Given the description of an element on the screen output the (x, y) to click on. 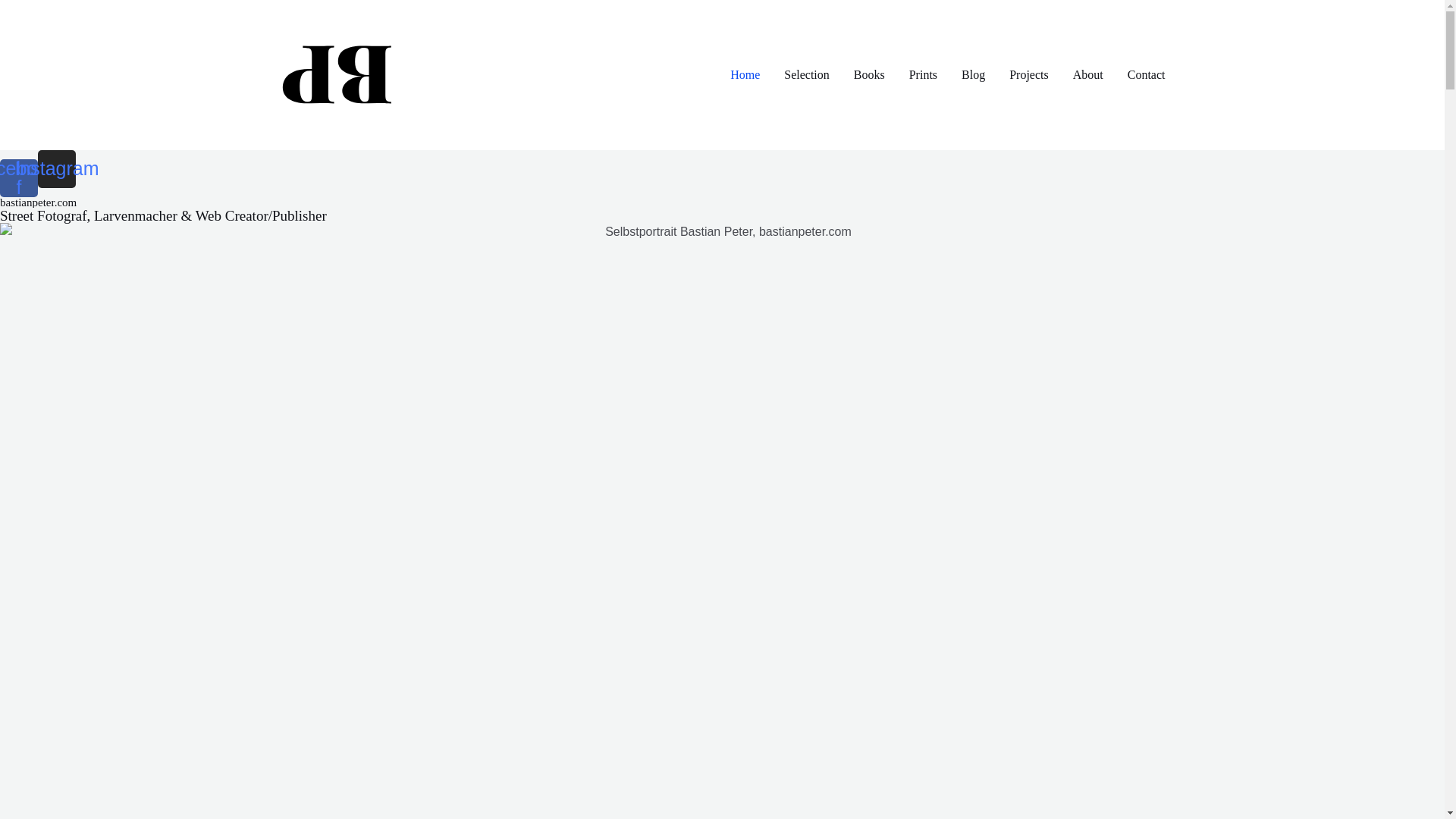
Books Element type: text (869, 74)
Facebook-f Element type: text (18, 178)
Home Element type: text (744, 74)
Blog Element type: text (973, 74)
Prints Element type: text (923, 74)
Projects Element type: text (1028, 74)
Selection Element type: text (806, 74)
About Element type: text (1087, 74)
Contact Element type: text (1146, 74)
Instagram Element type: text (56, 169)
